Given the description of an element on the screen output the (x, y) to click on. 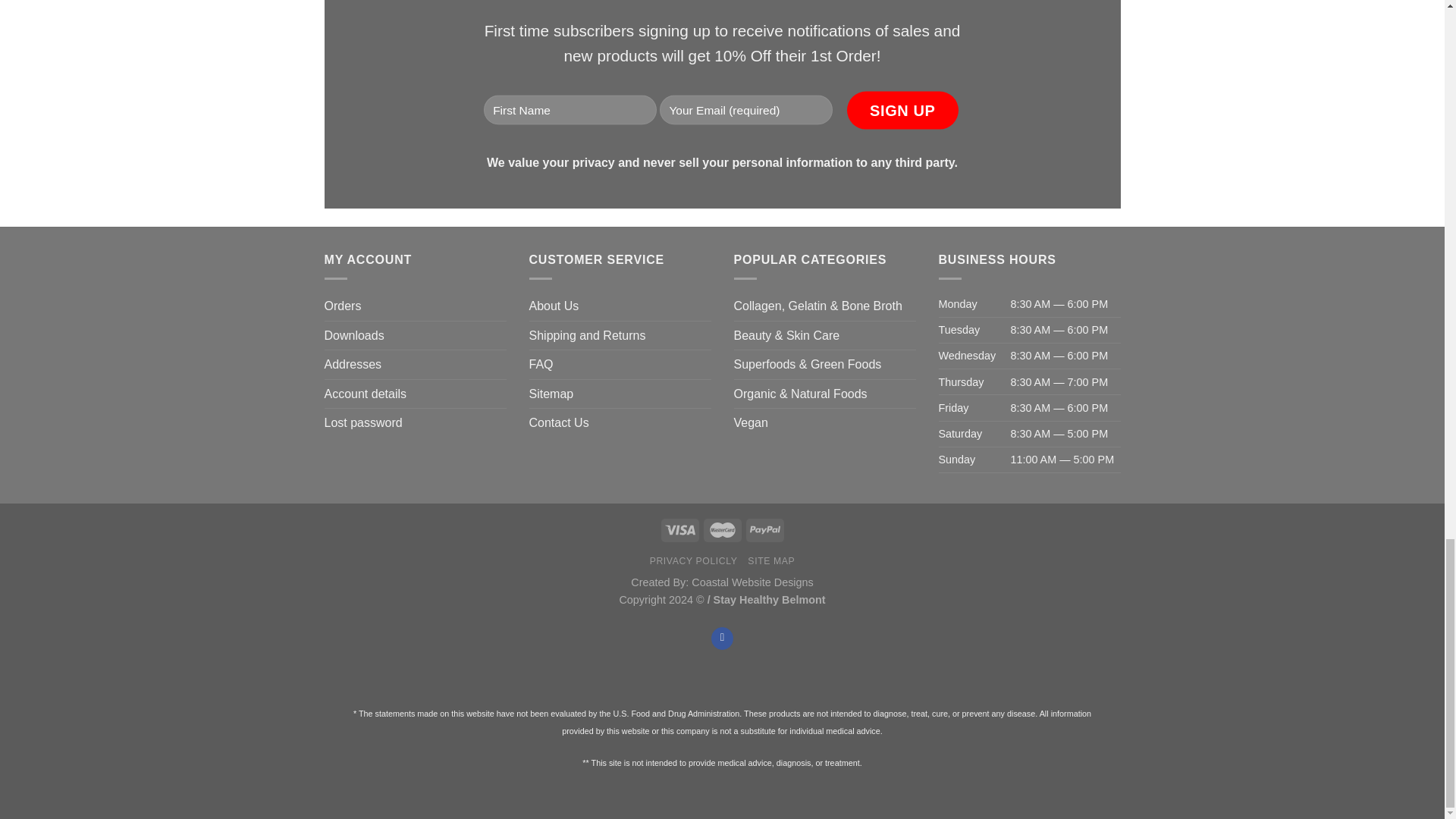
Follow on Facebook (722, 638)
Sign Up (902, 109)
